Given the description of an element on the screen output the (x, y) to click on. 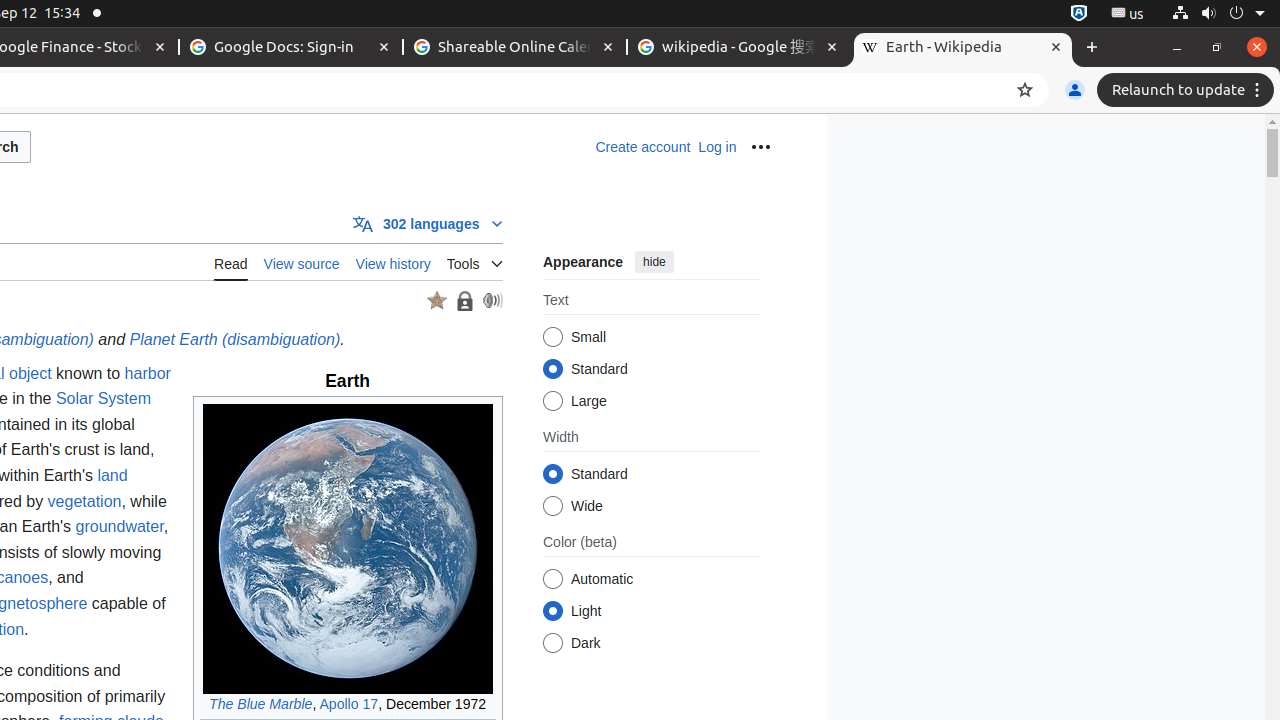
Read Element type: link (231, 262)
Listen to this article Element type: link (492, 300)
Small Element type: radio-button (552, 337)
:1.21/StatusNotifierItem Element type: menu (1127, 13)
The Blue Marble Element type: link (261, 703)
